Given the description of an element on the screen output the (x, y) to click on. 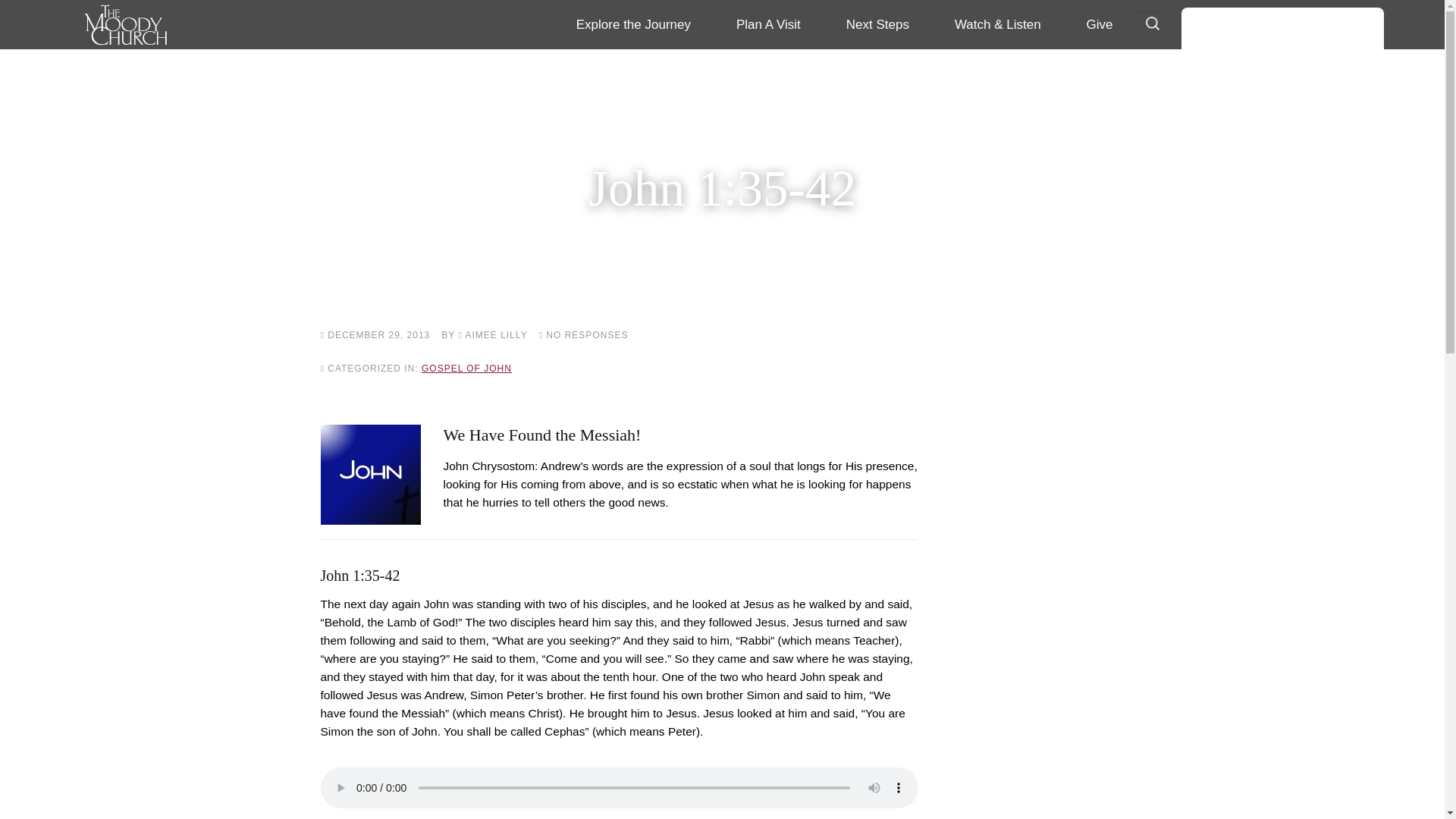
GOSPEL OF JOHN (467, 368)
Giving Account (1283, 76)
My Subscriptions (1283, 159)
The Moody Church (201, 24)
Plan A Visit (768, 24)
Find a Community (1283, 200)
Worship (930, 64)
Journey of a Lifetime (660, 64)
My Groups (1283, 242)
Explore the Journey (633, 24)
